Given the description of an element on the screen output the (x, y) to click on. 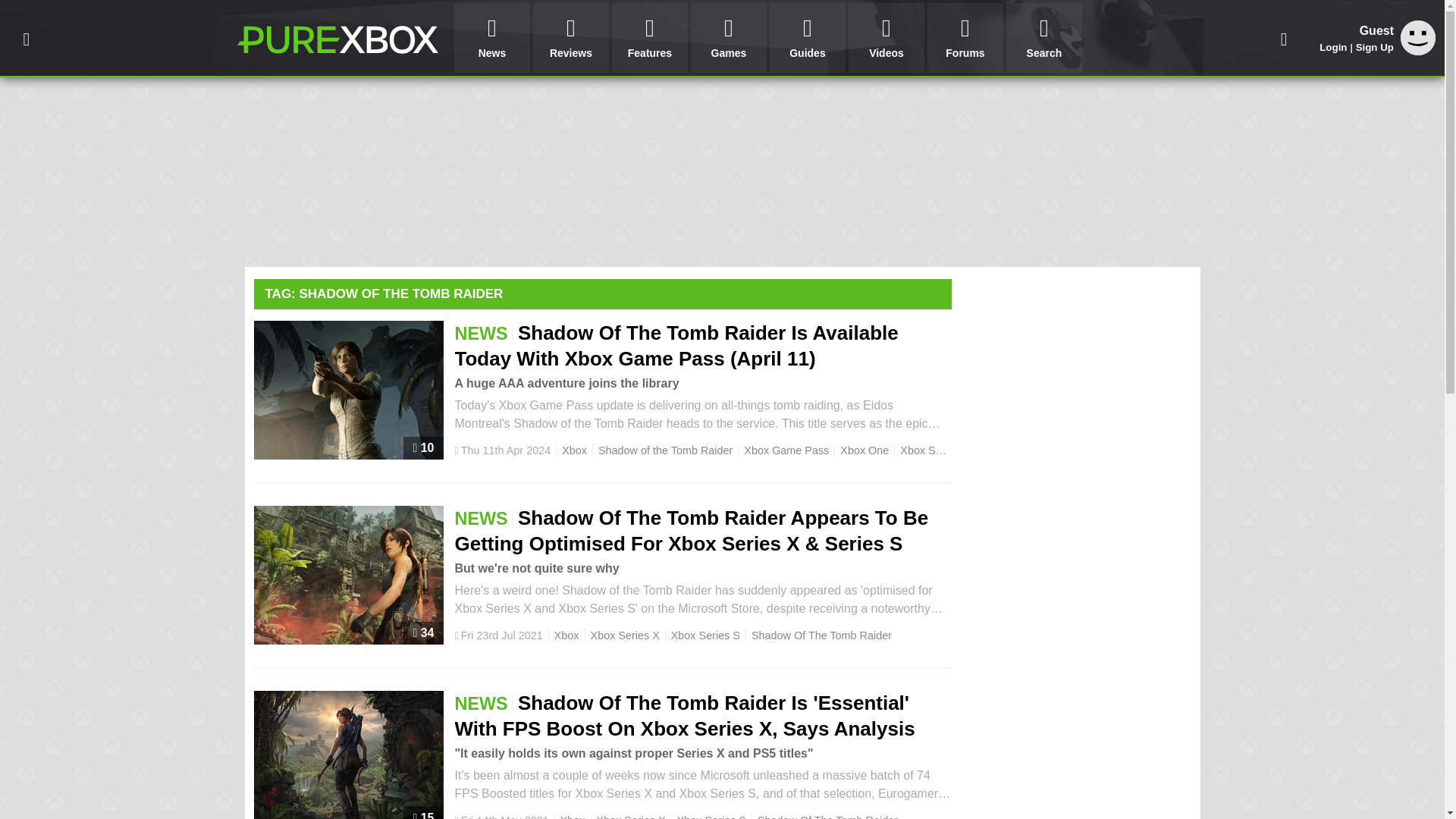
Search (1043, 37)
Reviews (570, 37)
News (491, 37)
Forums (965, 37)
Guest (1417, 51)
Features (649, 37)
Shadow of The Tomb Raider News - Pure Xbox (336, 39)
Sign Up (1374, 47)
Guest (1417, 37)
Share This Page (1283, 37)
